Given the description of an element on the screen output the (x, y) to click on. 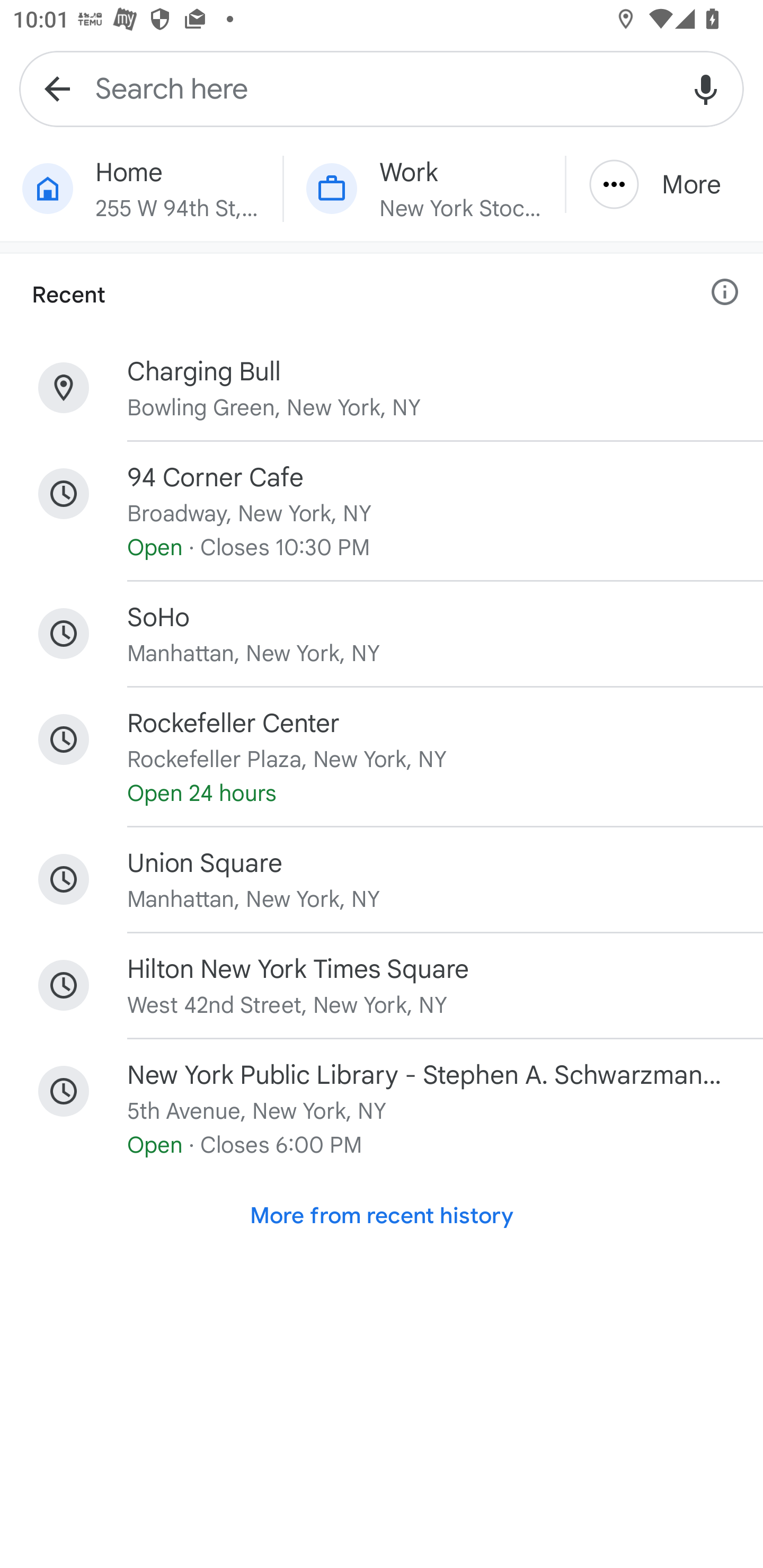
Navigate up (57, 88)
Search here (381, 88)
Voice search (705, 88)
More (664, 184)
Charging Bull Bowling Green, New York, NY (381, 387)
SoHo Manhattan, New York, NY (381, 633)
Union Square Manhattan, New York, NY (381, 879)
More from recent history (381, 1215)
